Given the description of an element on the screen output the (x, y) to click on. 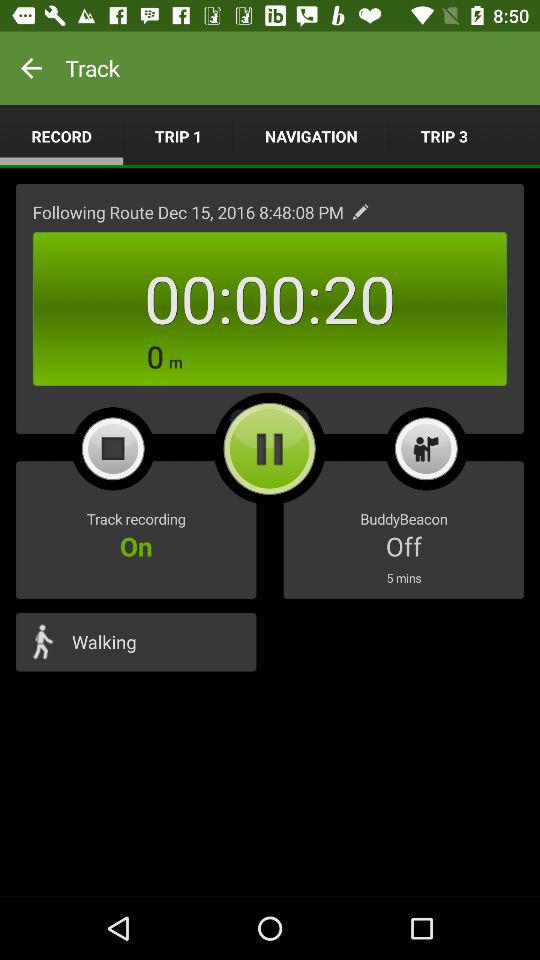
click the navigation (311, 136)
